Given the description of an element on the screen output the (x, y) to click on. 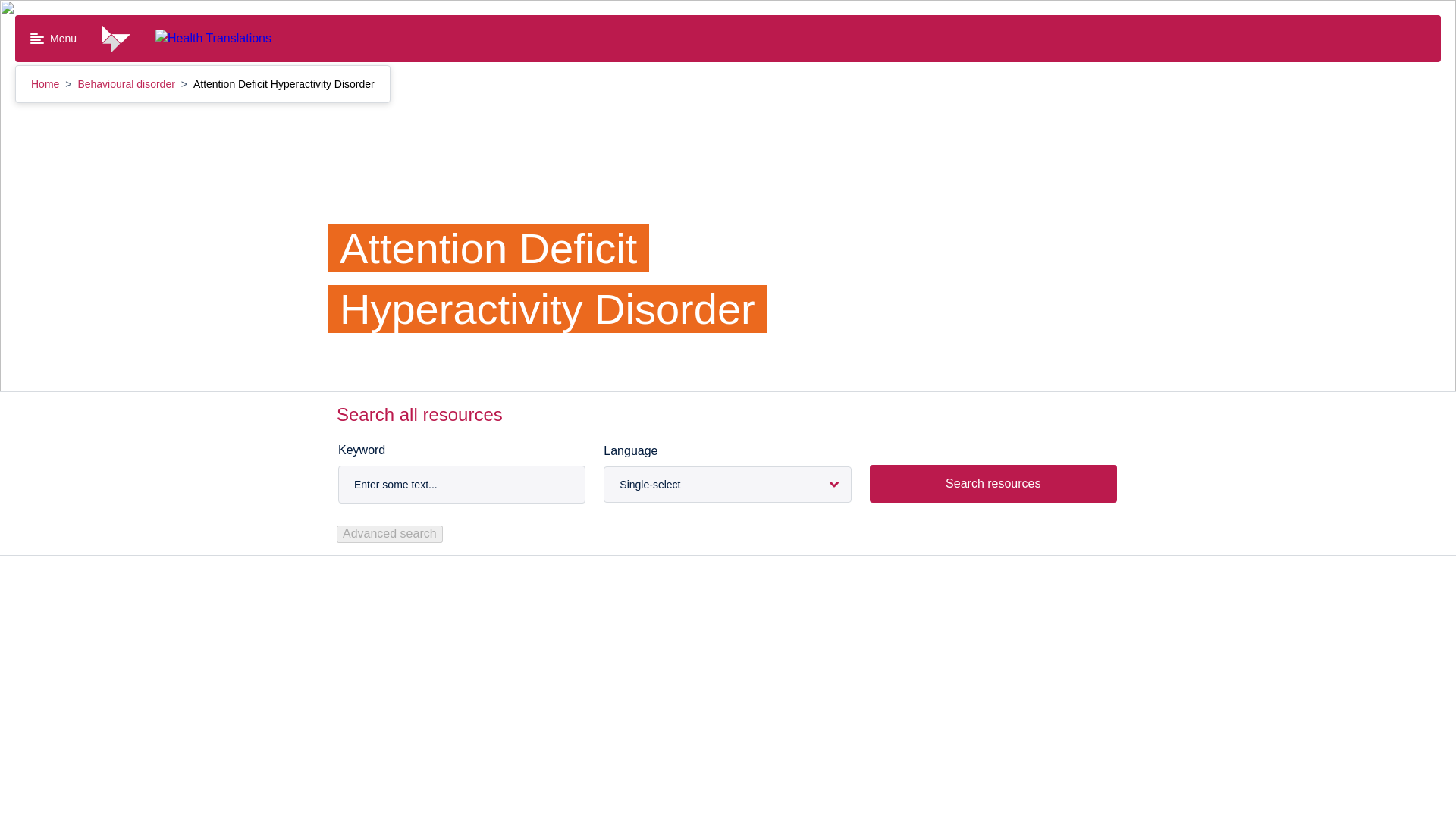
Advanced search (389, 533)
Search resources (992, 483)
Home (46, 83)
Behavioural disorder (127, 83)
Menu (53, 38)
